Given the description of an element on the screen output the (x, y) to click on. 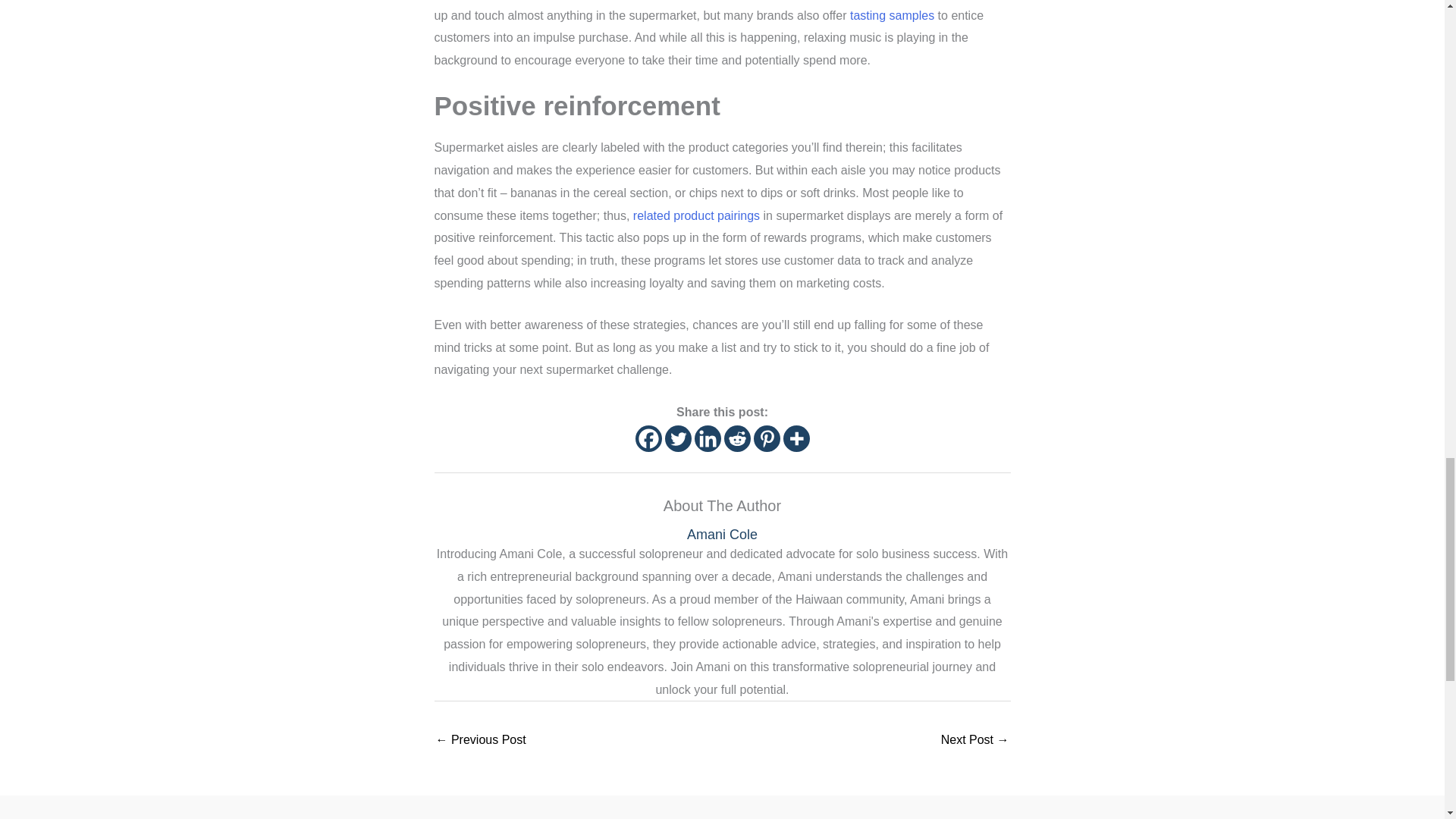
More (796, 438)
related product pairings (696, 215)
Facebook (648, 438)
UPI.com (696, 215)
Amani Cole (721, 534)
Linkedin (707, 438)
tasting samples (892, 15)
Supermarket News (892, 15)
Twitter (676, 438)
6 Tips on Efficient Data Cleaning (480, 741)
